Given the description of an element on the screen output the (x, y) to click on. 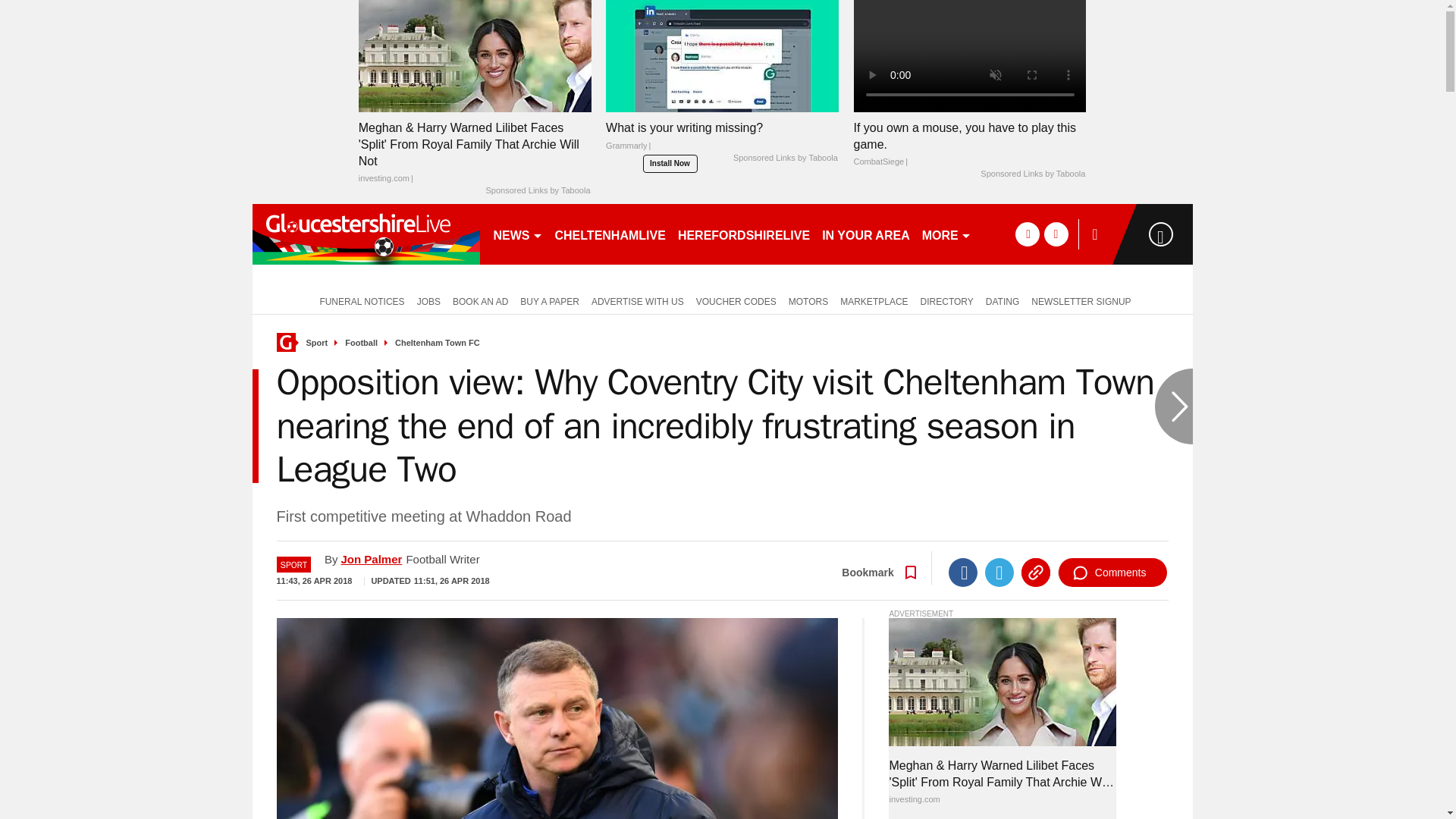
NEWS (517, 233)
Sponsored Links by Taboola (785, 158)
What is your writing missing? (721, 55)
Twitter (999, 572)
IN YOUR AREA (865, 233)
twitter (1055, 233)
Sponsored Links by Taboola (536, 190)
If you own a mouse, you have to play this game. (969, 55)
What is your writing missing? (721, 140)
CHELTENHAMLIVE (609, 233)
Facebook (962, 572)
HEREFORDSHIRELIVE (743, 233)
Sponsored Links by Taboola (1031, 174)
If you own a mouse, you have to play this game. (969, 144)
facebook (1026, 233)
